Given the description of an element on the screen output the (x, y) to click on. 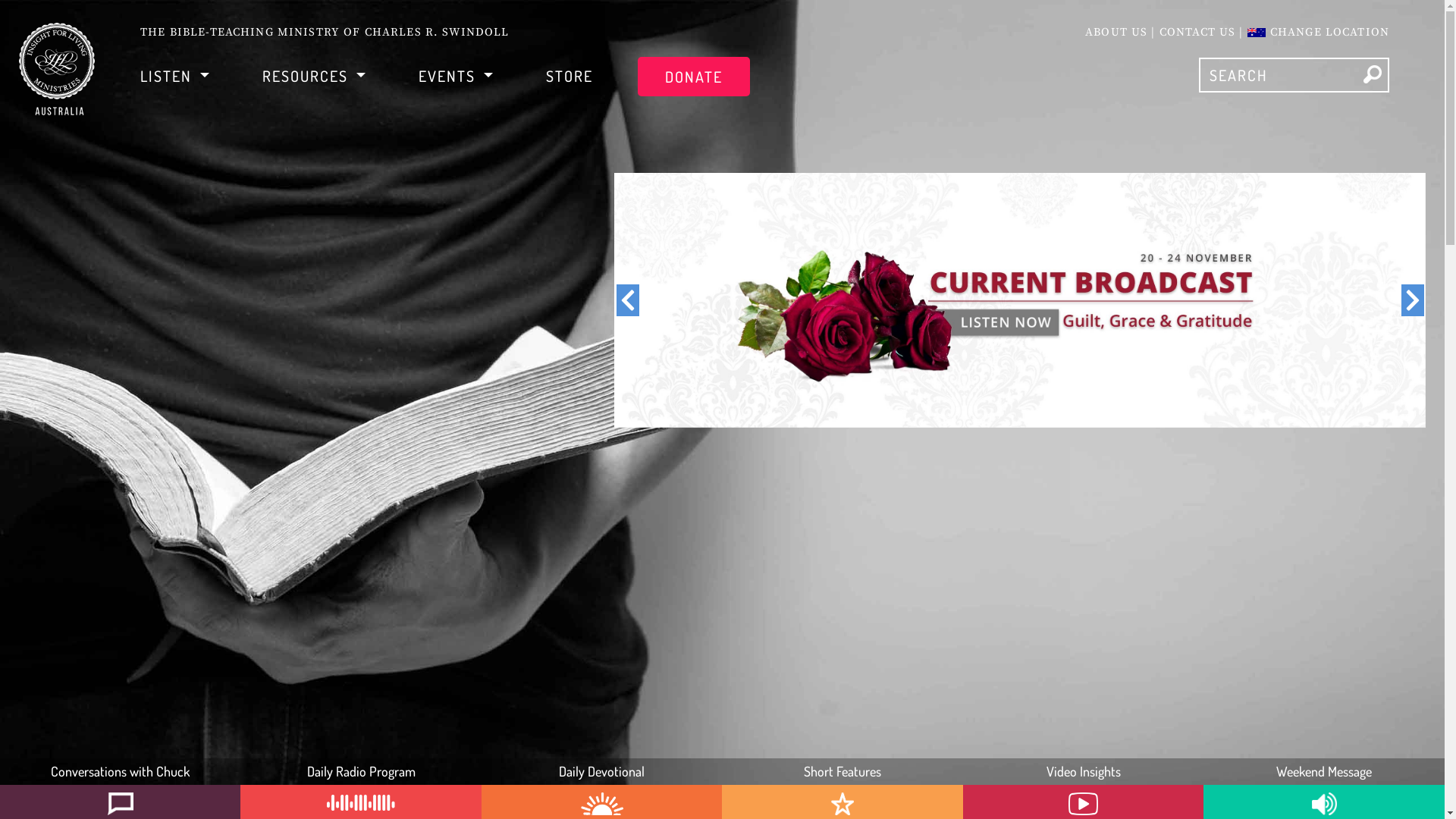
DONATE Element type: text (693, 75)
ABOUT US Element type: text (1116, 32)
LISTEN Element type: text (174, 75)
CHANGE LOCATION Element type: text (1318, 32)
Search Element type: text (1372, 74)
Next Element type: text (1412, 299)
CONTACT US Element type: text (1197, 32)
EVENTS Element type: text (455, 75)
STORE Element type: text (569, 75)
RESOURCES Element type: text (313, 75)
Previous Element type: text (627, 299)
